Given the description of an element on the screen output the (x, y) to click on. 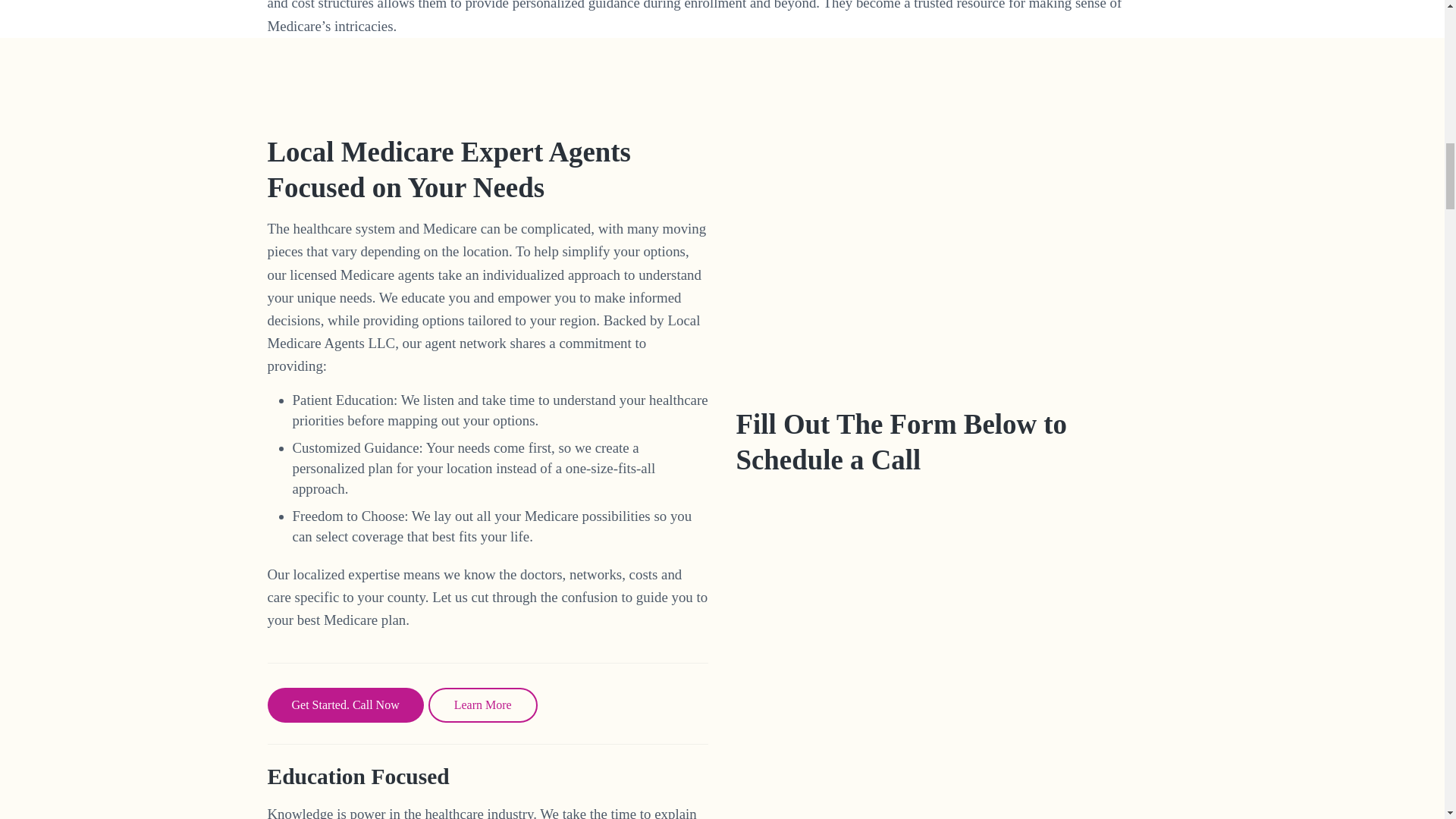
Local Medicare Agents (955, 270)
Learn More (482, 704)
Get Started. Call Now (344, 704)
